Given the description of an element on the screen output the (x, y) to click on. 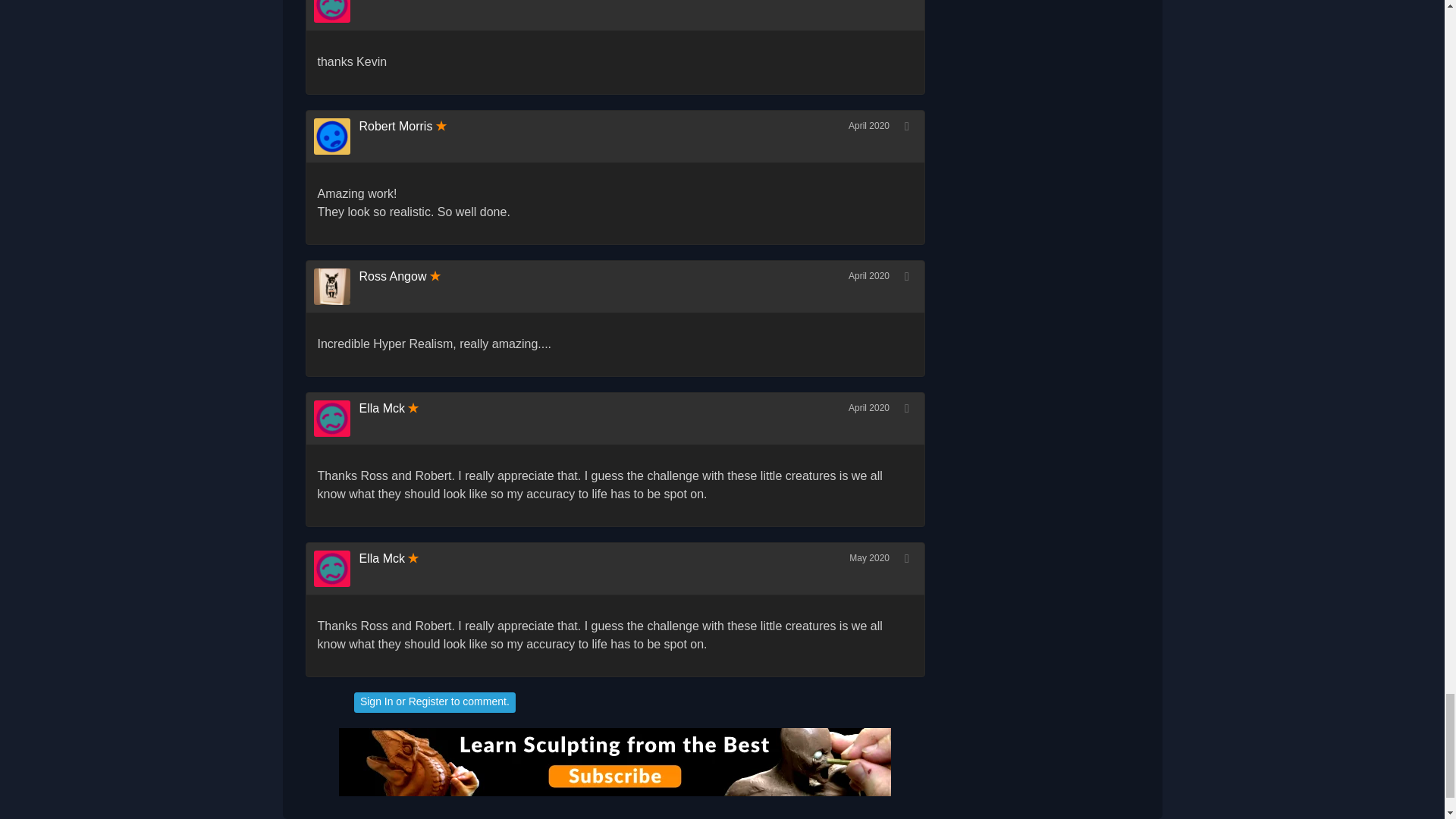
Ella Mck (381, 558)
Ella Mck (381, 0)
Ella Mck (381, 408)
April 2020 (868, 276)
Sign In (376, 701)
Register (428, 701)
April 2020 (868, 407)
Robert Morris (395, 125)
Ross Angow (392, 276)
April 2020 (868, 125)
May 2020 (868, 557)
Ella Mck (336, 11)
